Given the description of an element on the screen output the (x, y) to click on. 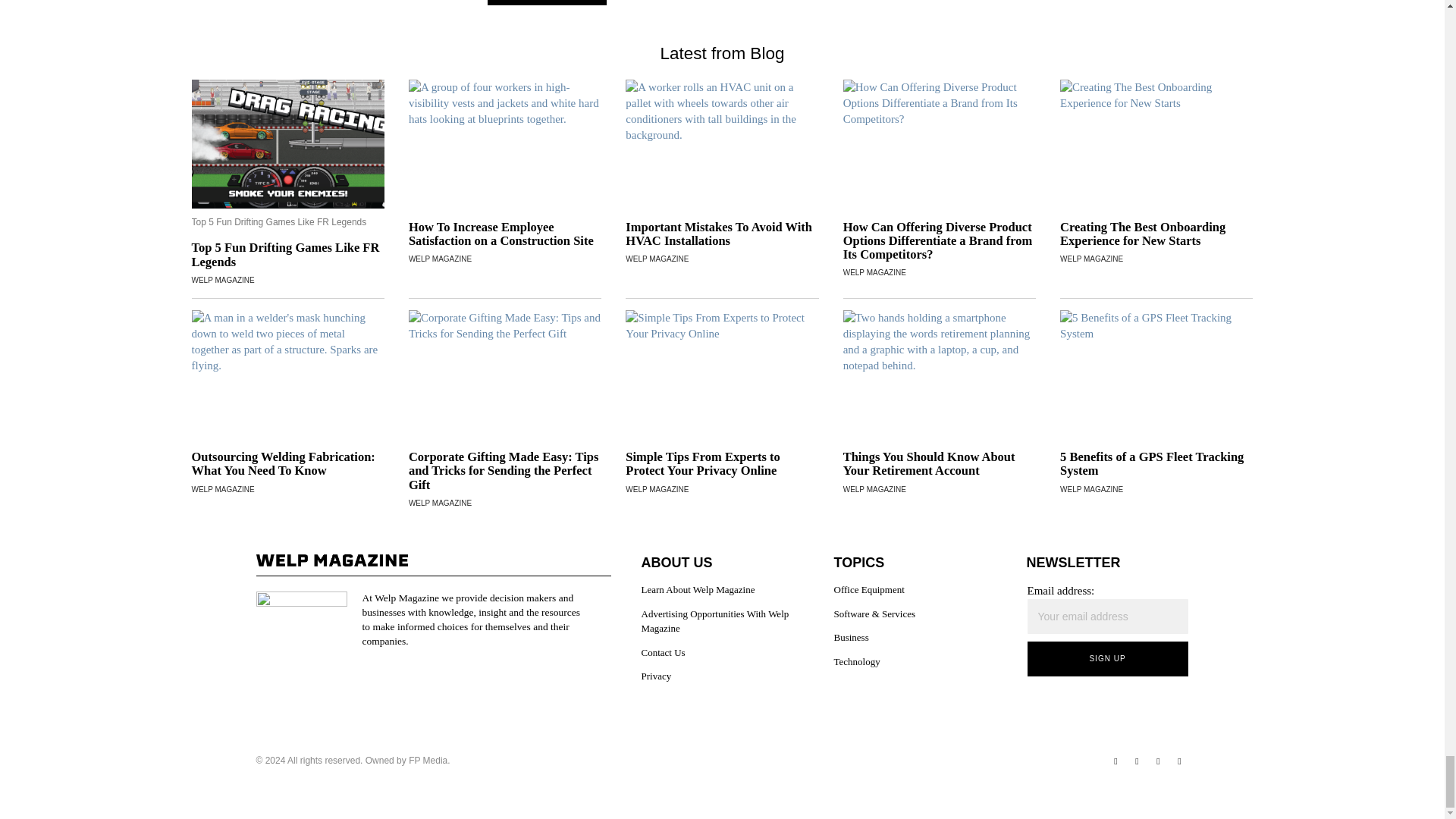
Post Comment (545, 2)
Sign up (1107, 658)
